Given the description of an element on the screen output the (x, y) to click on. 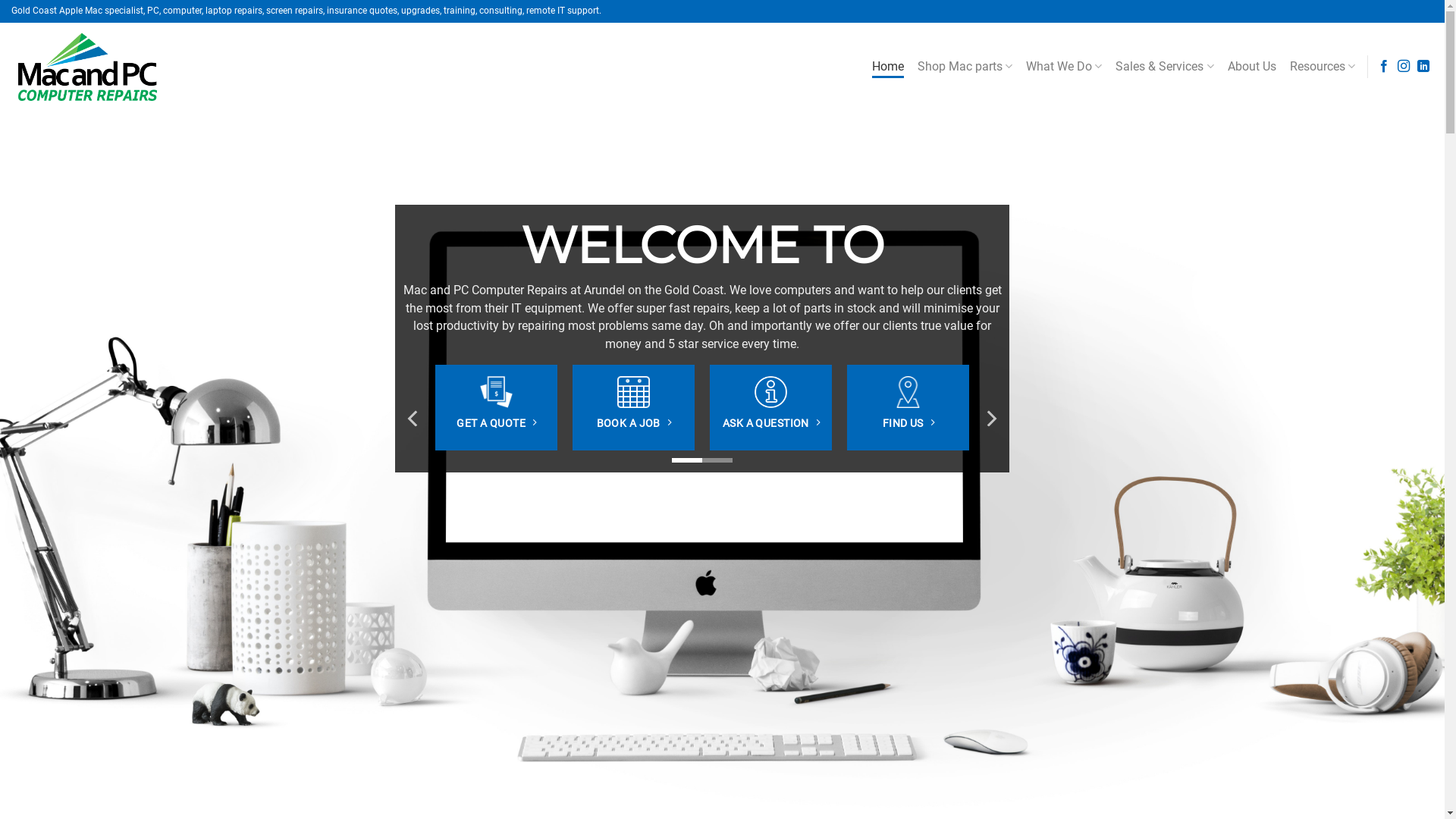
GET A QUOTE Element type: text (495, 422)
Sales & Services Element type: text (1164, 66)
Shop Mac parts Element type: text (964, 66)
About Us Element type: text (1251, 66)
FIND US Element type: text (907, 422)
ASK A QUESTION Element type: text (770, 422)
Resources Element type: text (1322, 66)
Home Element type: text (887, 66)
What We Do Element type: text (1063, 66)
BOOK A JOB Element type: text (632, 422)
